Given the description of an element on the screen output the (x, y) to click on. 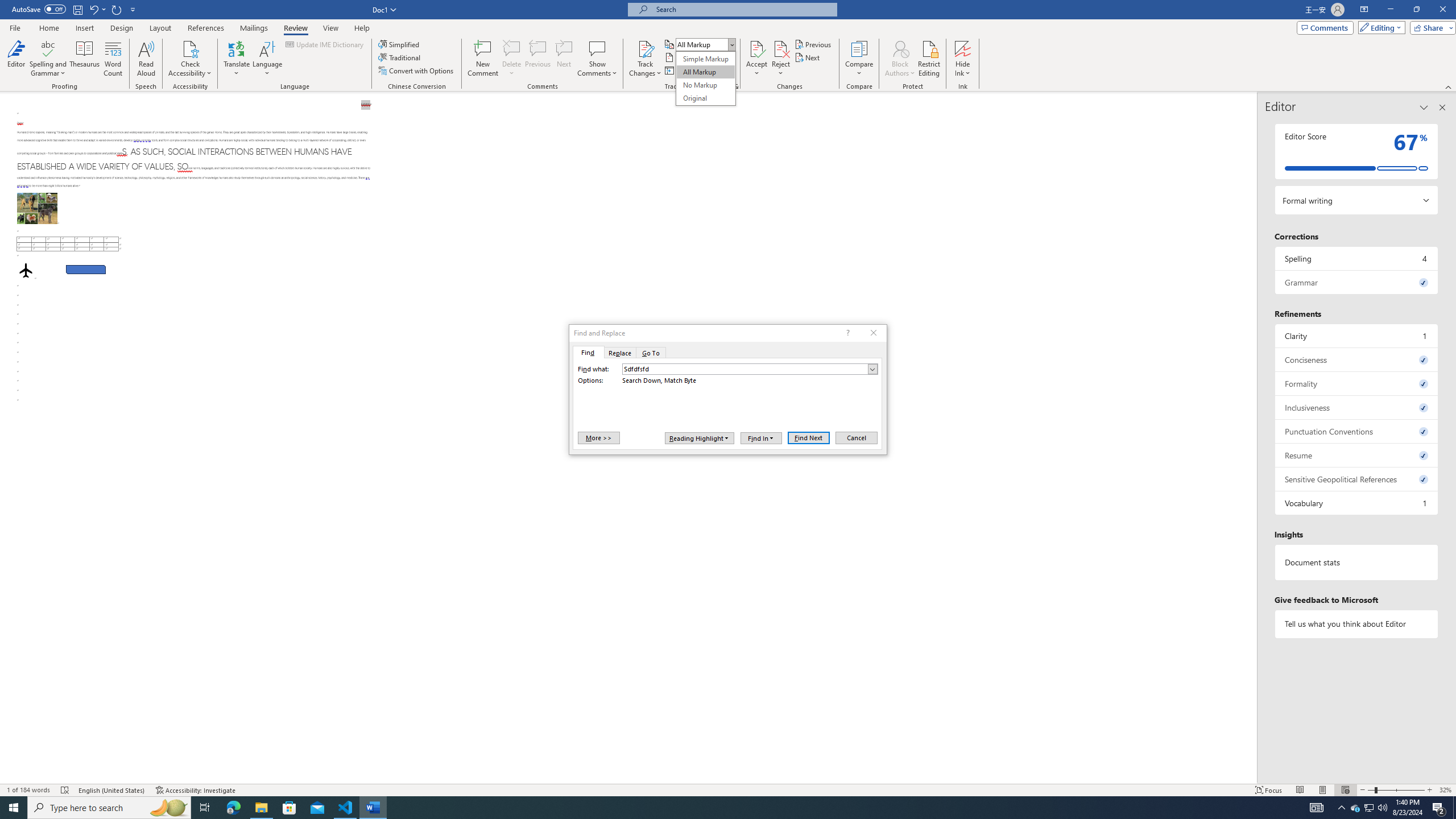
More >> (598, 437)
Reading Highlight (699, 437)
File Explorer - 1 running window (261, 807)
